Given the description of an element on the screen output the (x, y) to click on. 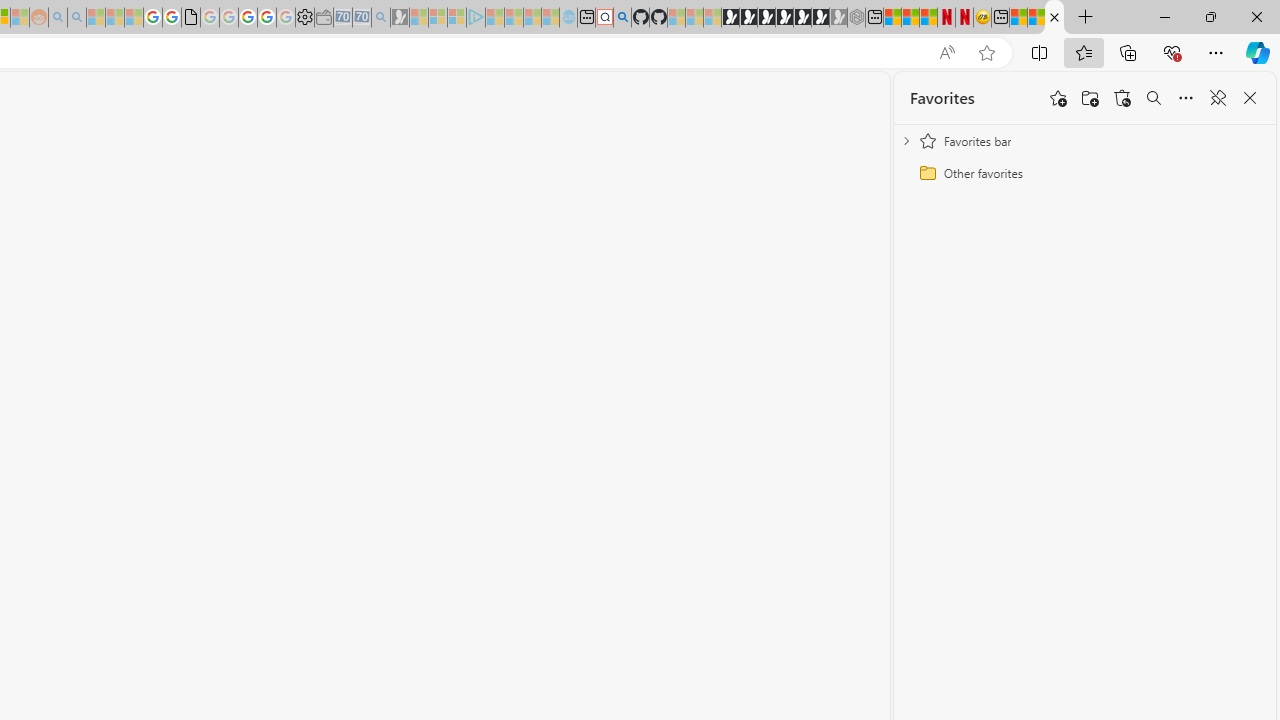
Play Free Online Games | Games from Microsoft Start (729, 17)
Unpin favorites (1217, 98)
google_privacy_policy_zh-CN.pdf (190, 17)
